Given the description of an element on the screen output the (x, y) to click on. 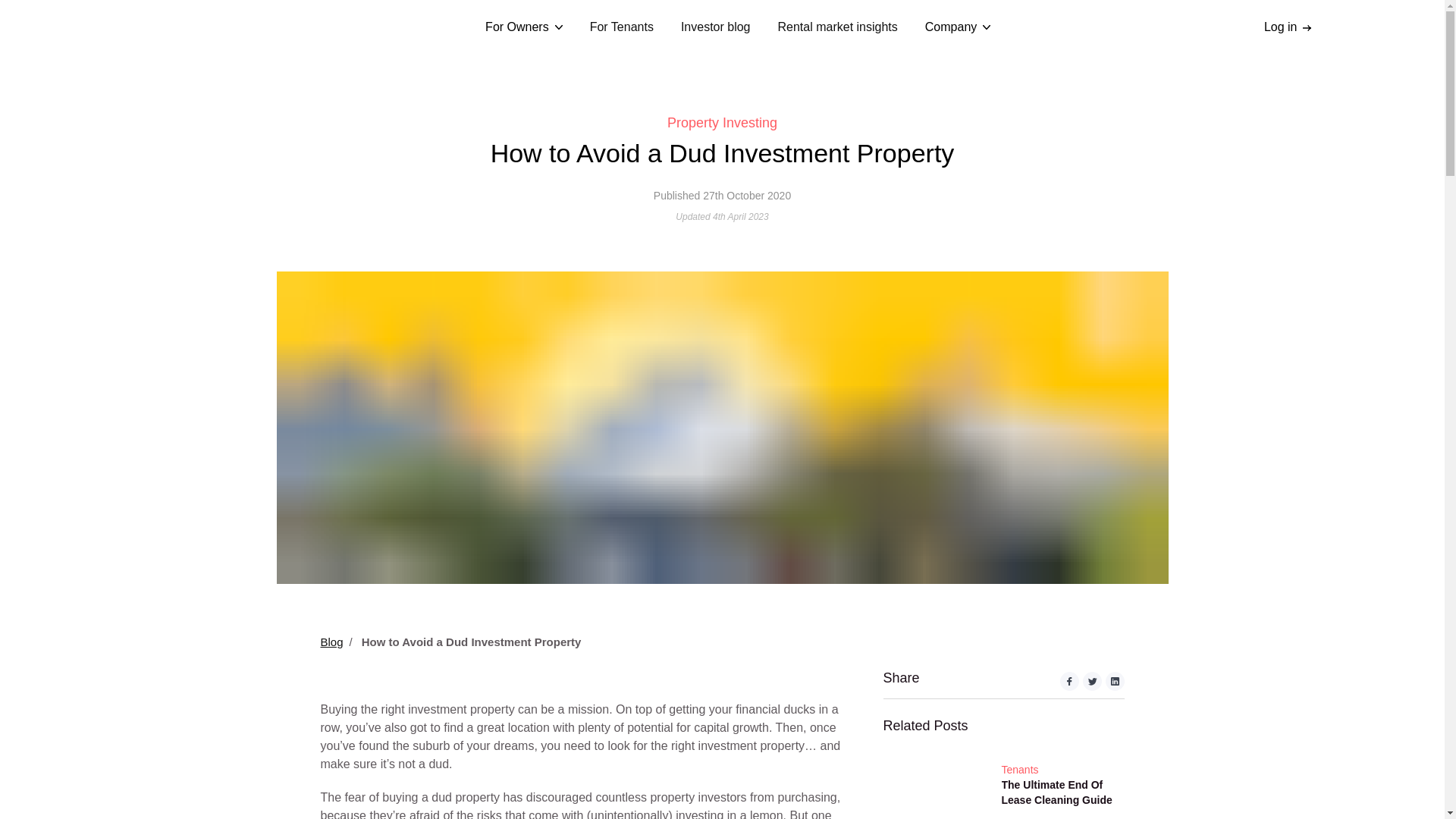
Rental market insights (837, 27)
Linkedin IconLinkedin button (1114, 681)
Twitter icon (1092, 683)
Facebook IconFacebook button (1068, 681)
Investor blog (716, 27)
The Ultimate End Of Lease Cleaning Guide (1058, 792)
Property Investing (721, 123)
Twitter icon (1092, 681)
:Different (166, 27)
Tenants (1058, 770)
Facebook IconFacebook button (1068, 683)
Log in (1293, 27)
For Tenants (621, 27)
Blog (331, 641)
Linkedin IconLinkedin button (1114, 683)
